Given the description of an element on the screen output the (x, y) to click on. 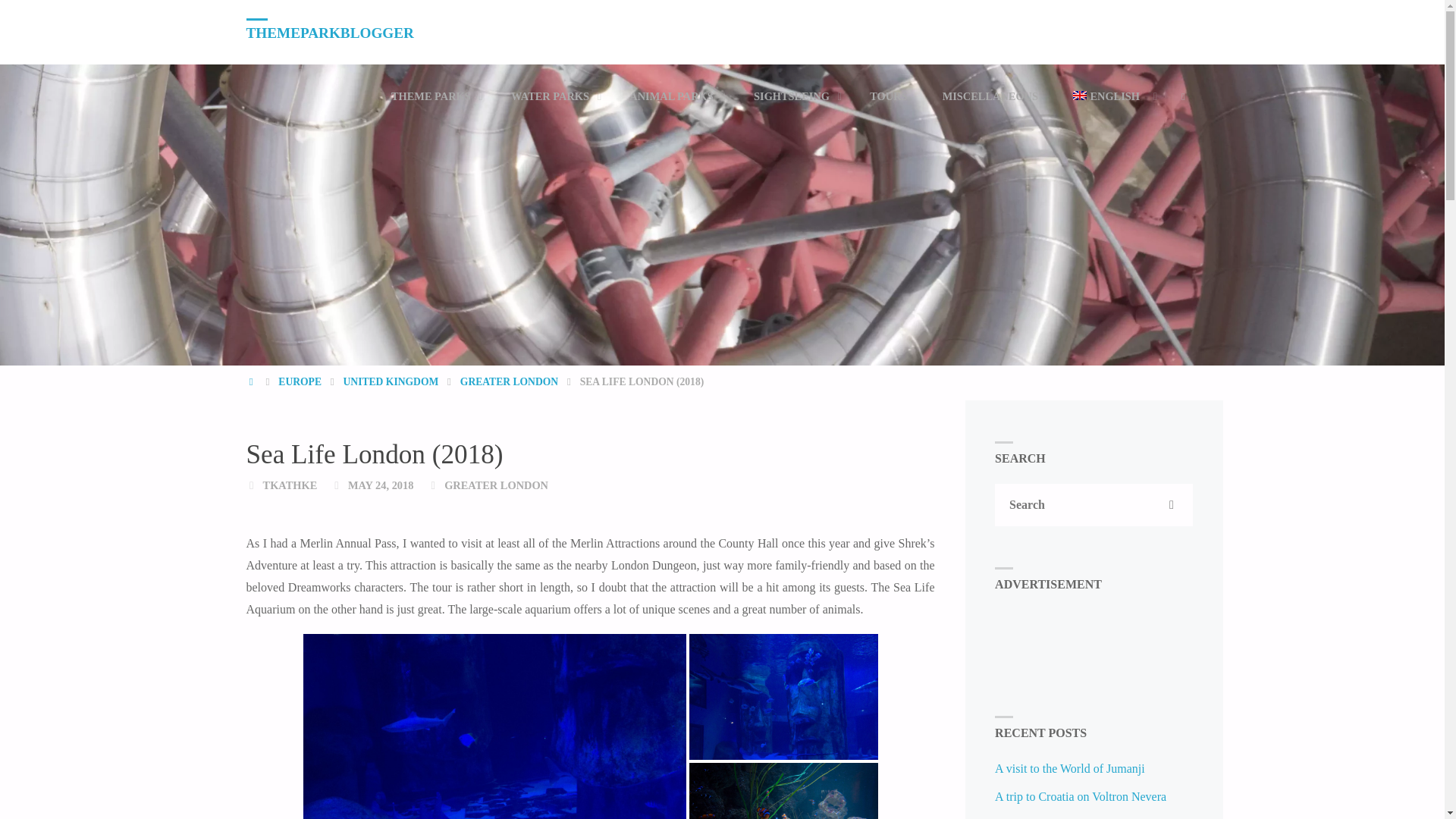
Sea Life London (493, 726)
English (1111, 96)
View all posts by TKathke (290, 485)
Home (252, 381)
Your Guide for Family-Friendly Fun (329, 32)
